Given the description of an element on the screen output the (x, y) to click on. 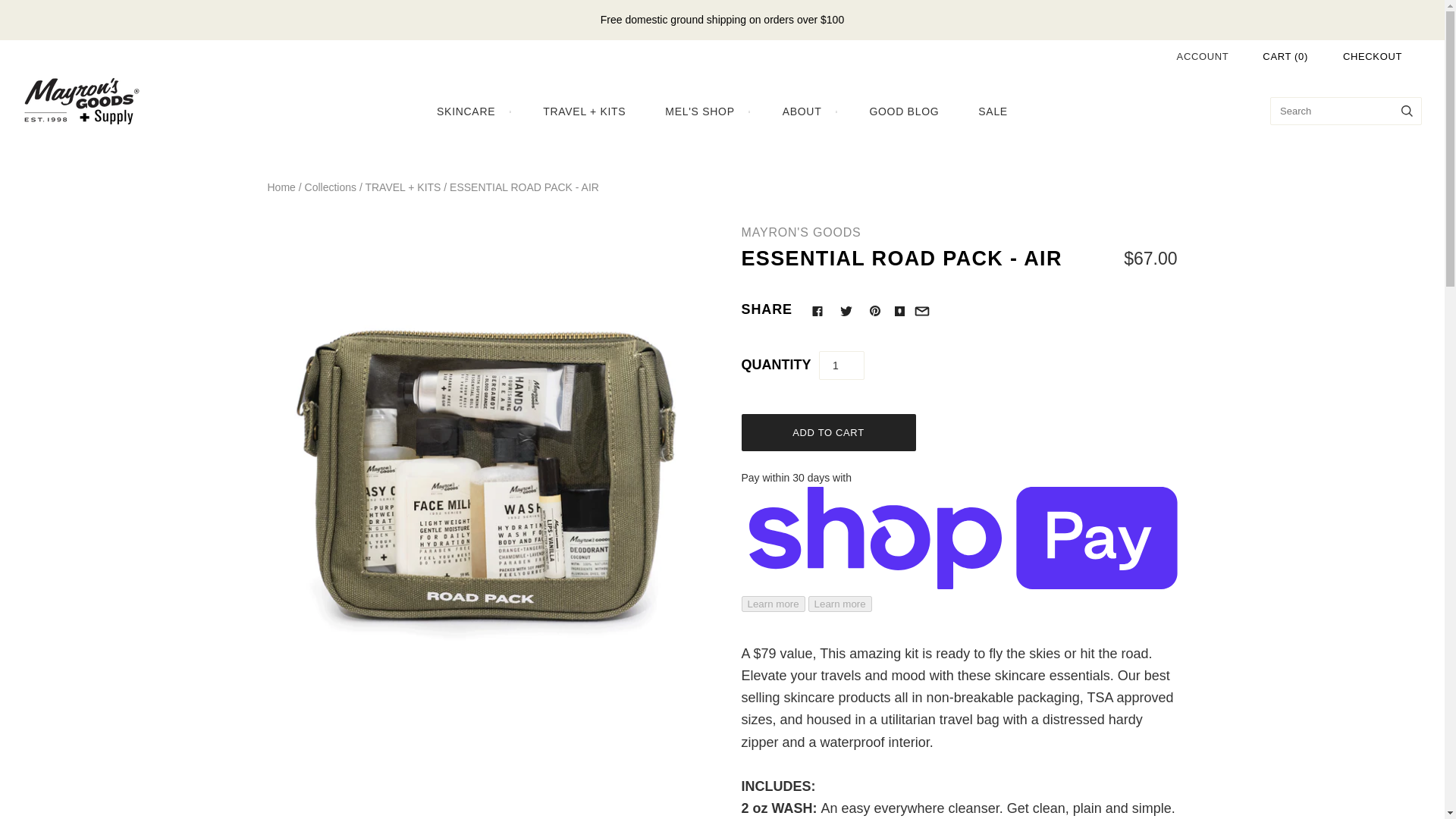
ACCOUNT (1202, 56)
CHECKOUT (1372, 56)
Add to cart (828, 432)
1 (841, 365)
GOOD BLOG (903, 111)
SALE (992, 111)
